Given the description of an element on the screen output the (x, y) to click on. 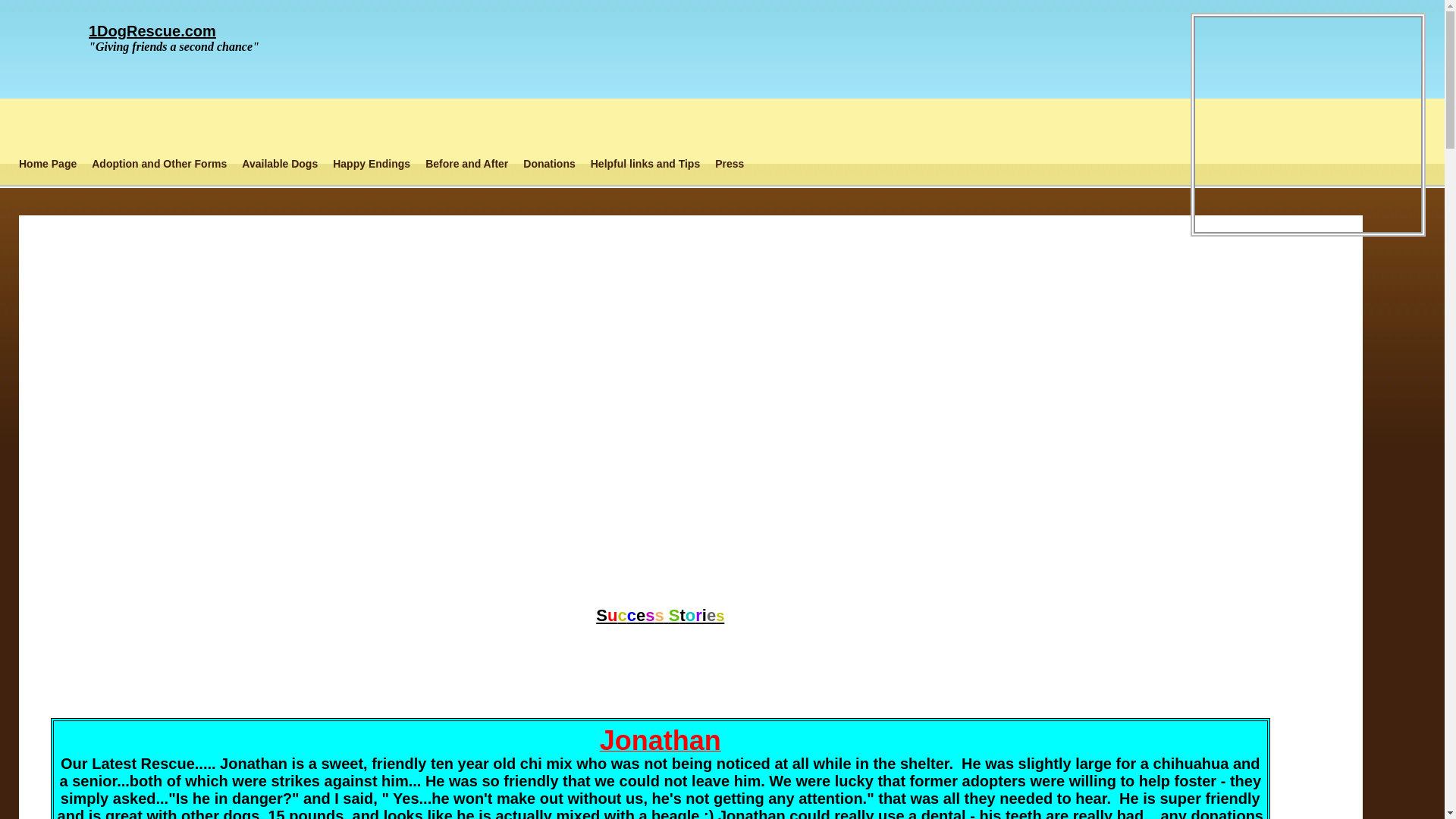
Helpful links and Tips Element type: text (644, 163)
Available Dogs Element type: text (279, 163)
Press Element type: text (729, 163)
Donations Element type: text (548, 163)
Adoption and Other Forms Element type: text (158, 163)
Home Page Element type: text (47, 163)
  Element type: text (662, 245)
Happy Endings Element type: text (371, 163)
Before and After Element type: text (466, 163)
